Given the description of an element on the screen output the (x, y) to click on. 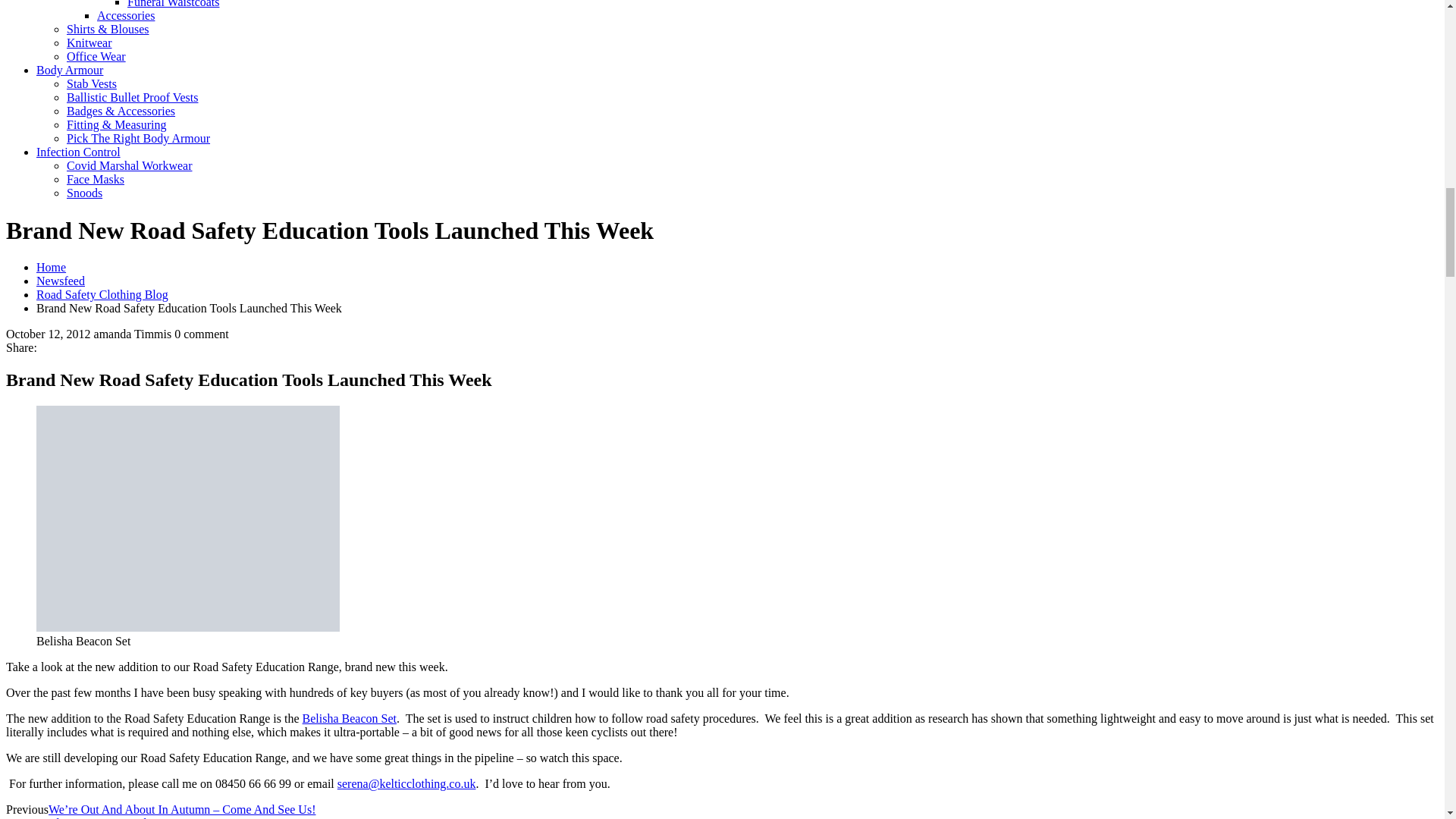
Belisha beacon set (187, 518)
Belisha Beacon Set (349, 717)
